Given the description of an element on the screen output the (x, y) to click on. 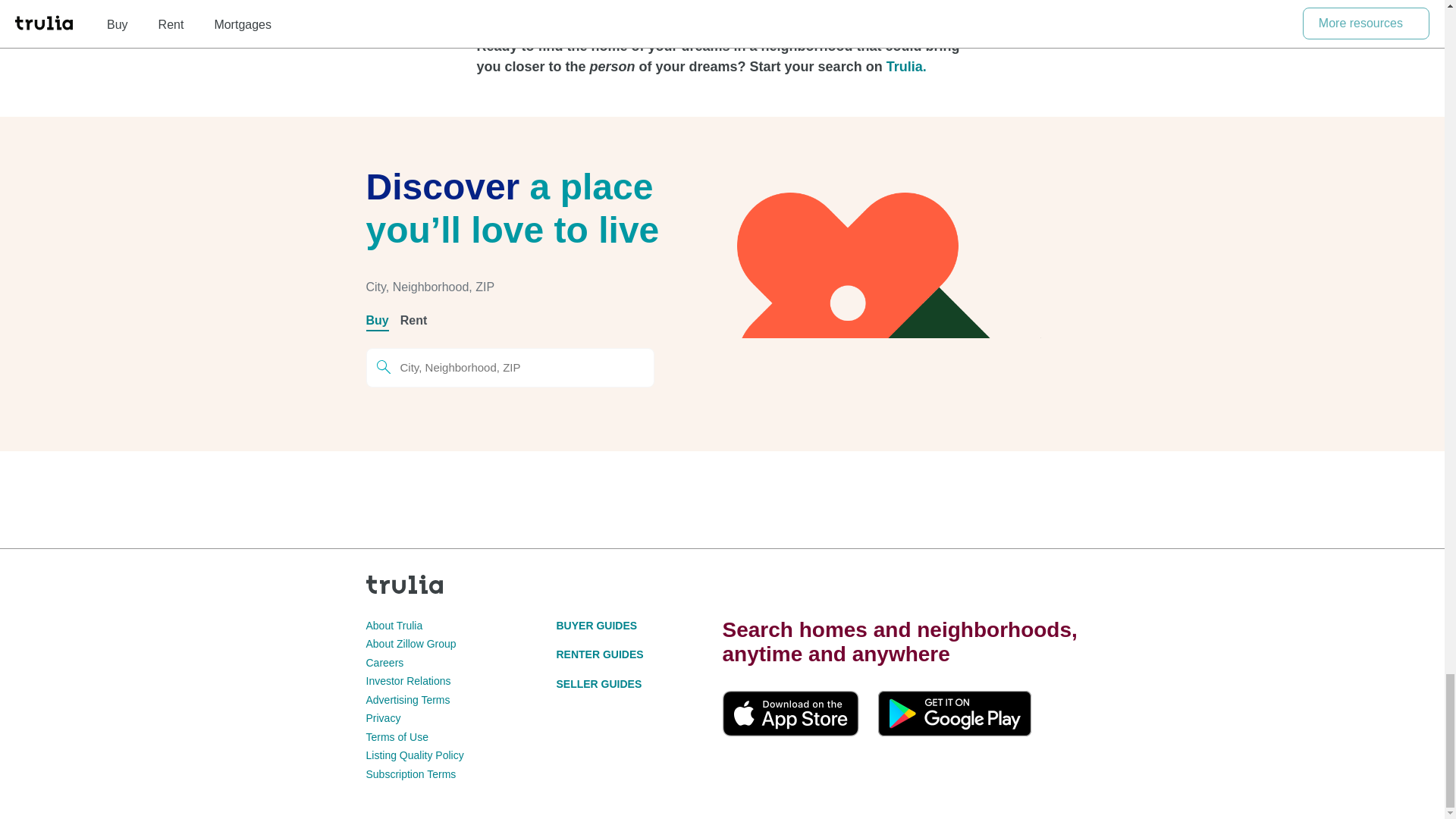
Download Apple App (790, 713)
Download Android App (953, 713)
